Given the description of an element on the screen output the (x, y) to click on. 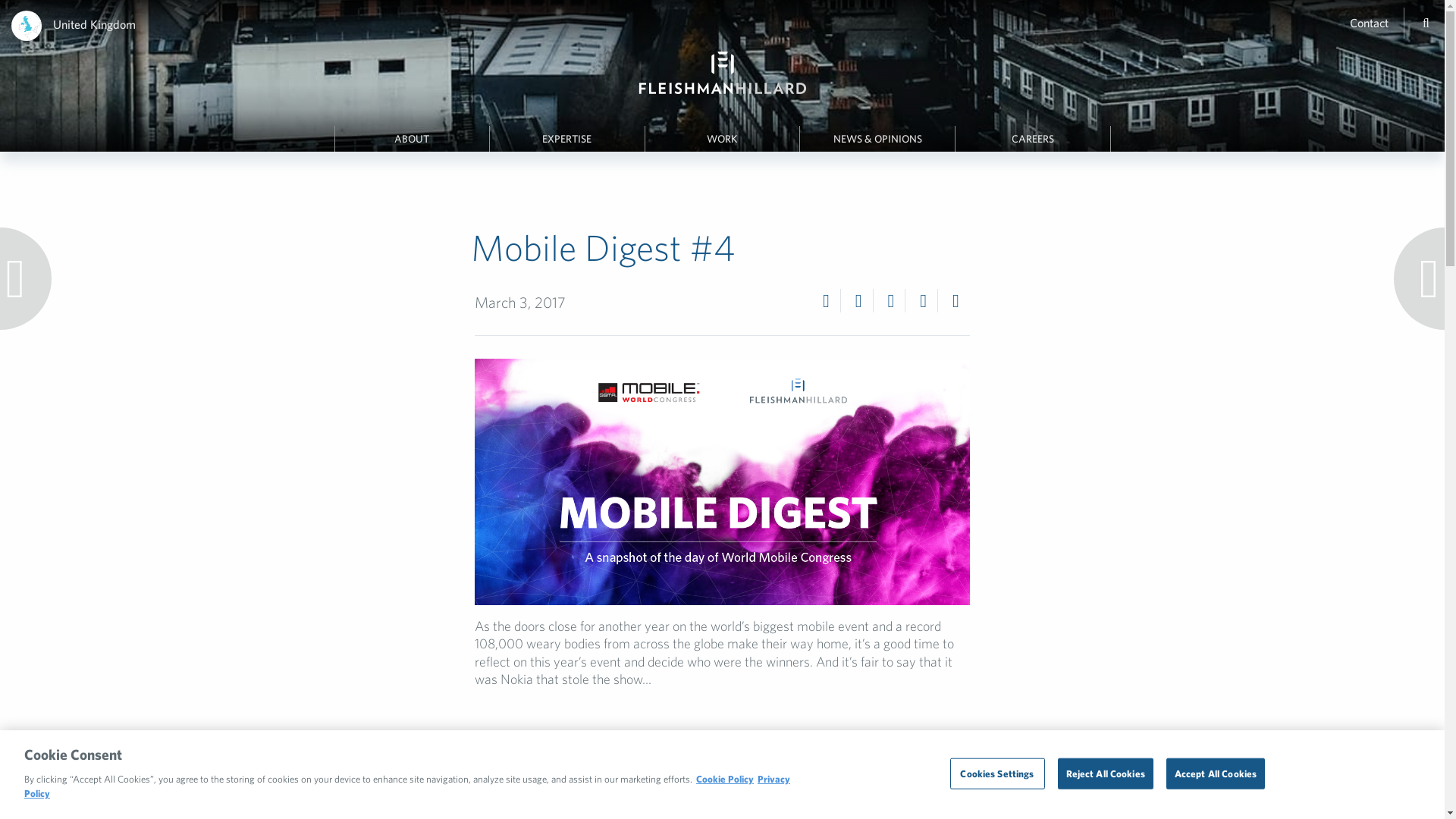
EXPERTISE (567, 138)
United Kingdom (93, 24)
three new Android phones (753, 816)
WORK (722, 138)
Nokia 3310 became the most searched-for phone (719, 795)
CAREERS (1032, 138)
Contact (1369, 22)
ABOUT (411, 138)
